Given the description of an element on the screen output the (x, y) to click on. 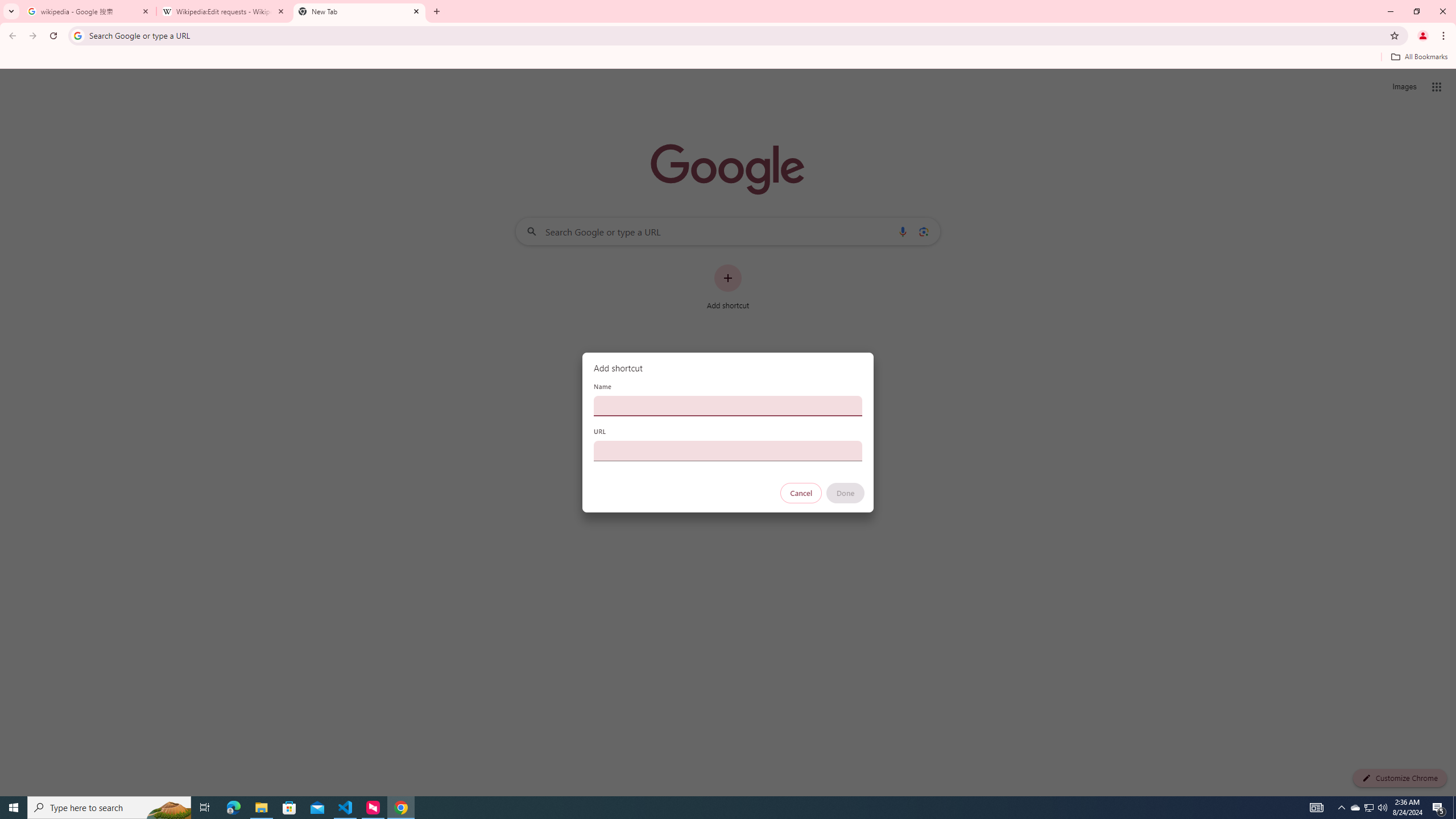
Done (845, 493)
Name (727, 405)
Wikipedia:Edit requests - Wikipedia (224, 11)
Bookmarks (728, 58)
Cancel (801, 493)
